Given the description of an element on the screen output the (x, y) to click on. 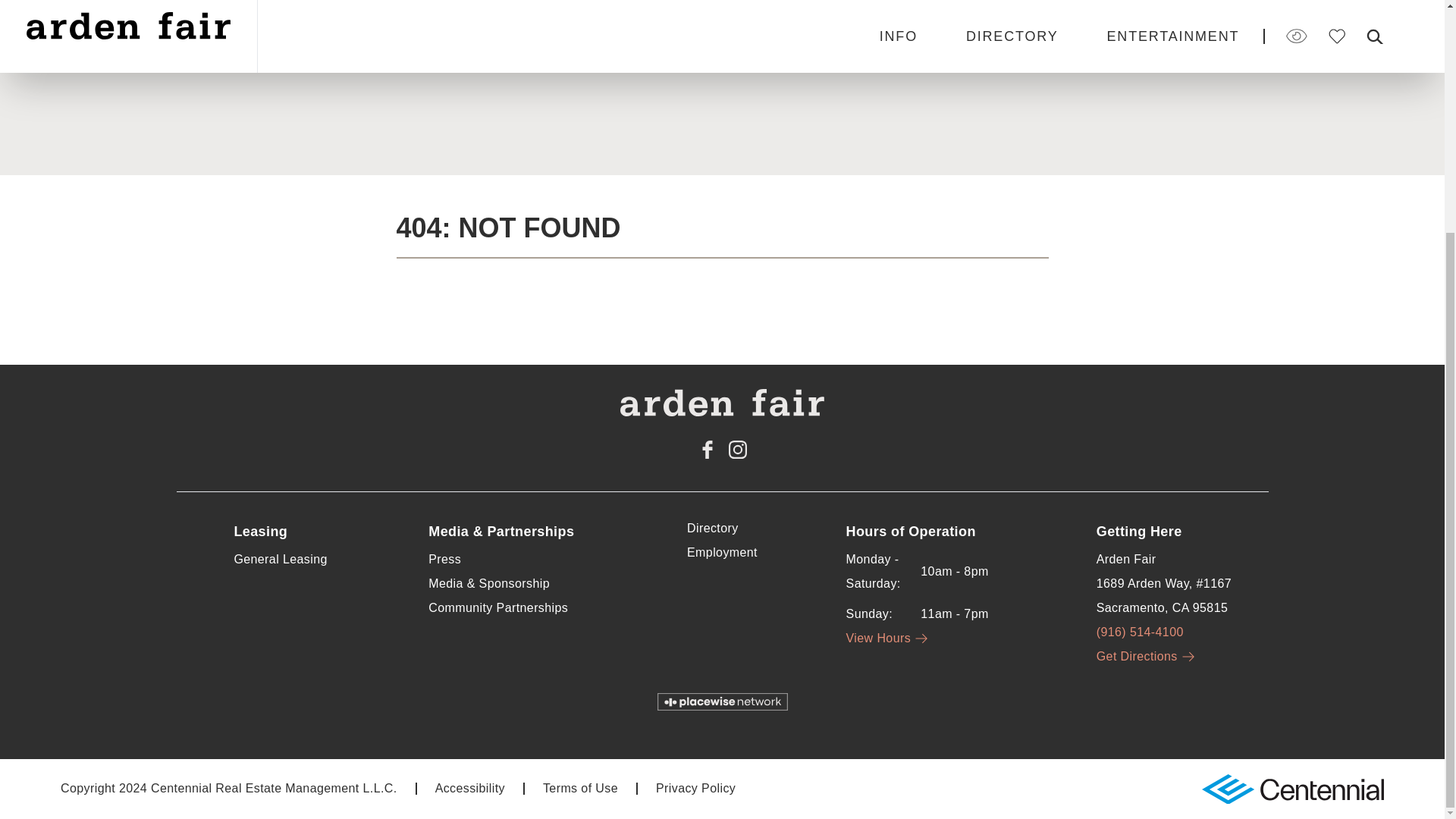
Directory (712, 527)
Get Directions (1147, 656)
Instagram (736, 449)
Brought to you by the Placewise Network (721, 701)
Press (444, 558)
Accessibility (470, 788)
Facebook (706, 449)
General Leasing (279, 558)
View Hours (889, 637)
Terms of Use (580, 788)
